Given the description of an element on the screen output the (x, y) to click on. 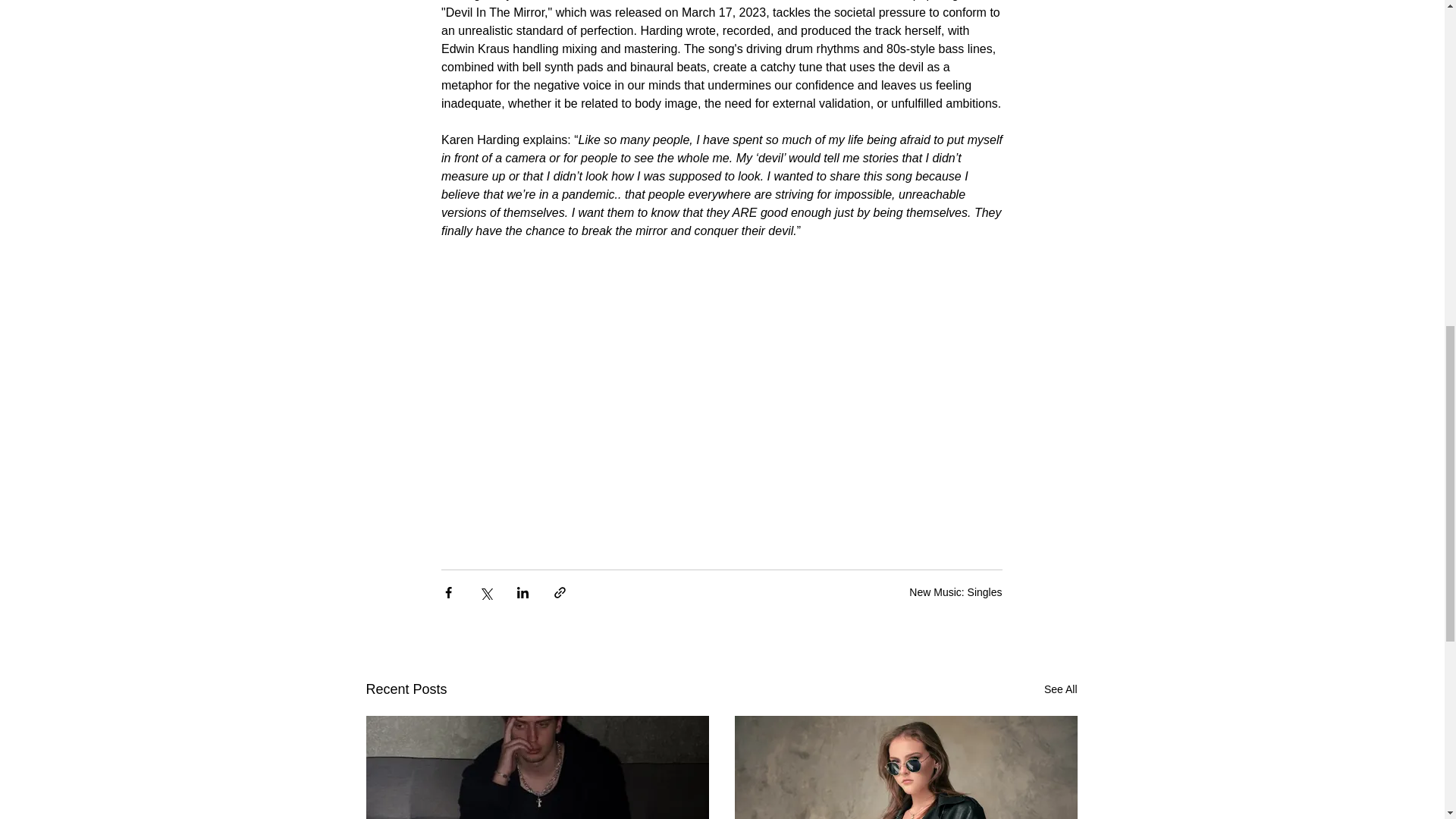
See All (1060, 689)
New Music: Singles (954, 592)
